Given the description of an element on the screen output the (x, y) to click on. 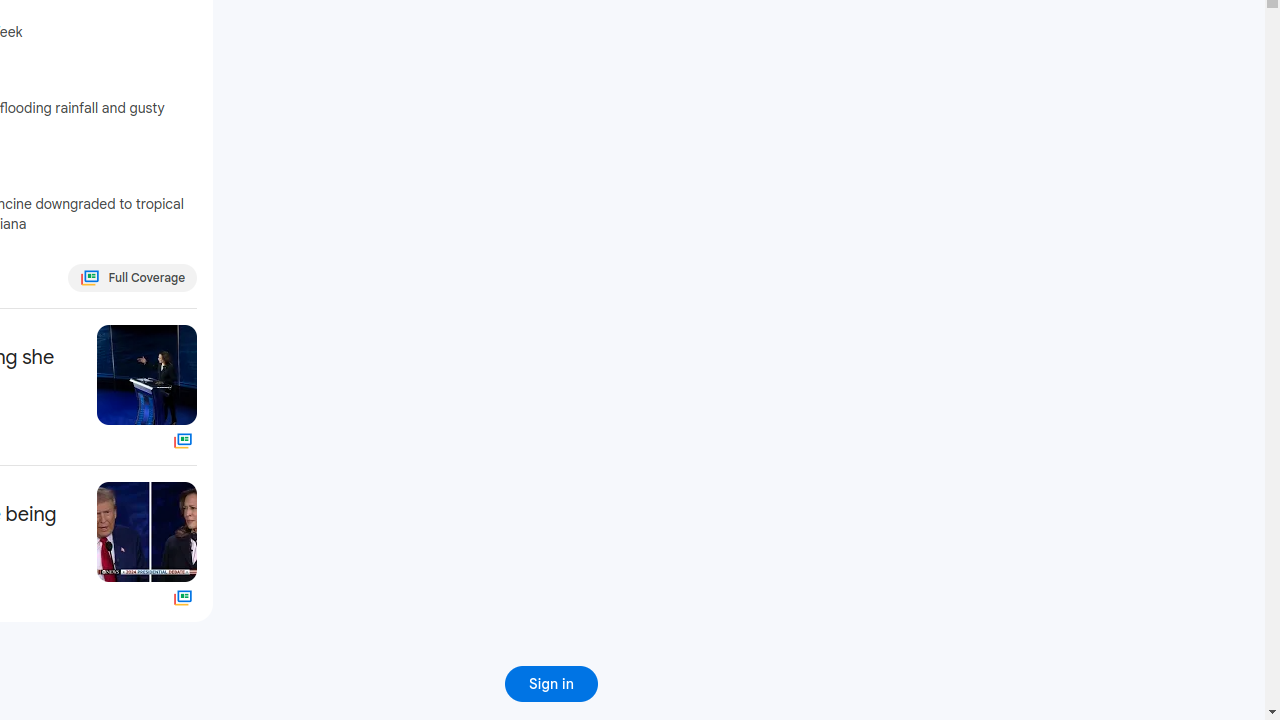
More - Hurricane tracker live updates: Francine downgraded to tropical storm after making landfall in Louisiana Element type: push-button (191, 183)
